Given the description of an element on the screen output the (x, y) to click on. 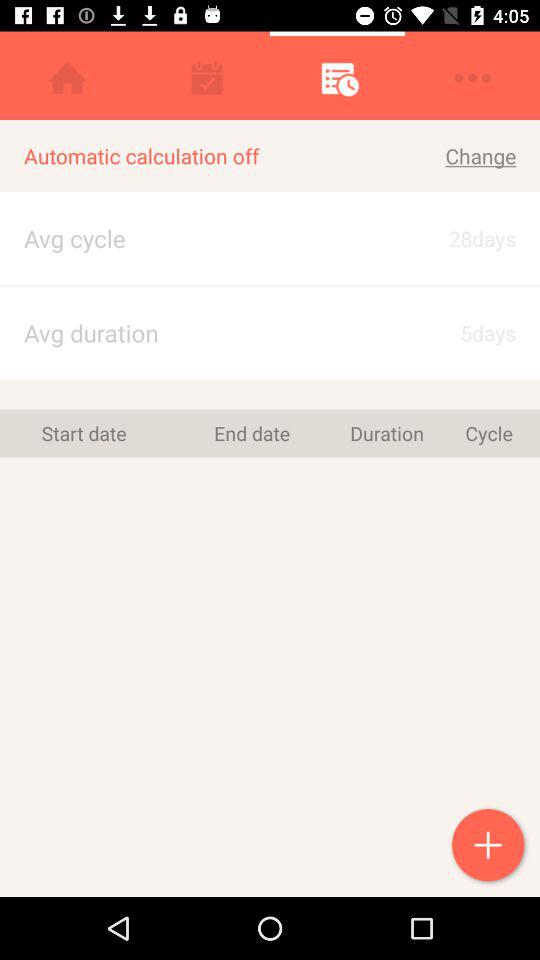
select item next to duration icon (252, 433)
